Given the description of an element on the screen output the (x, y) to click on. 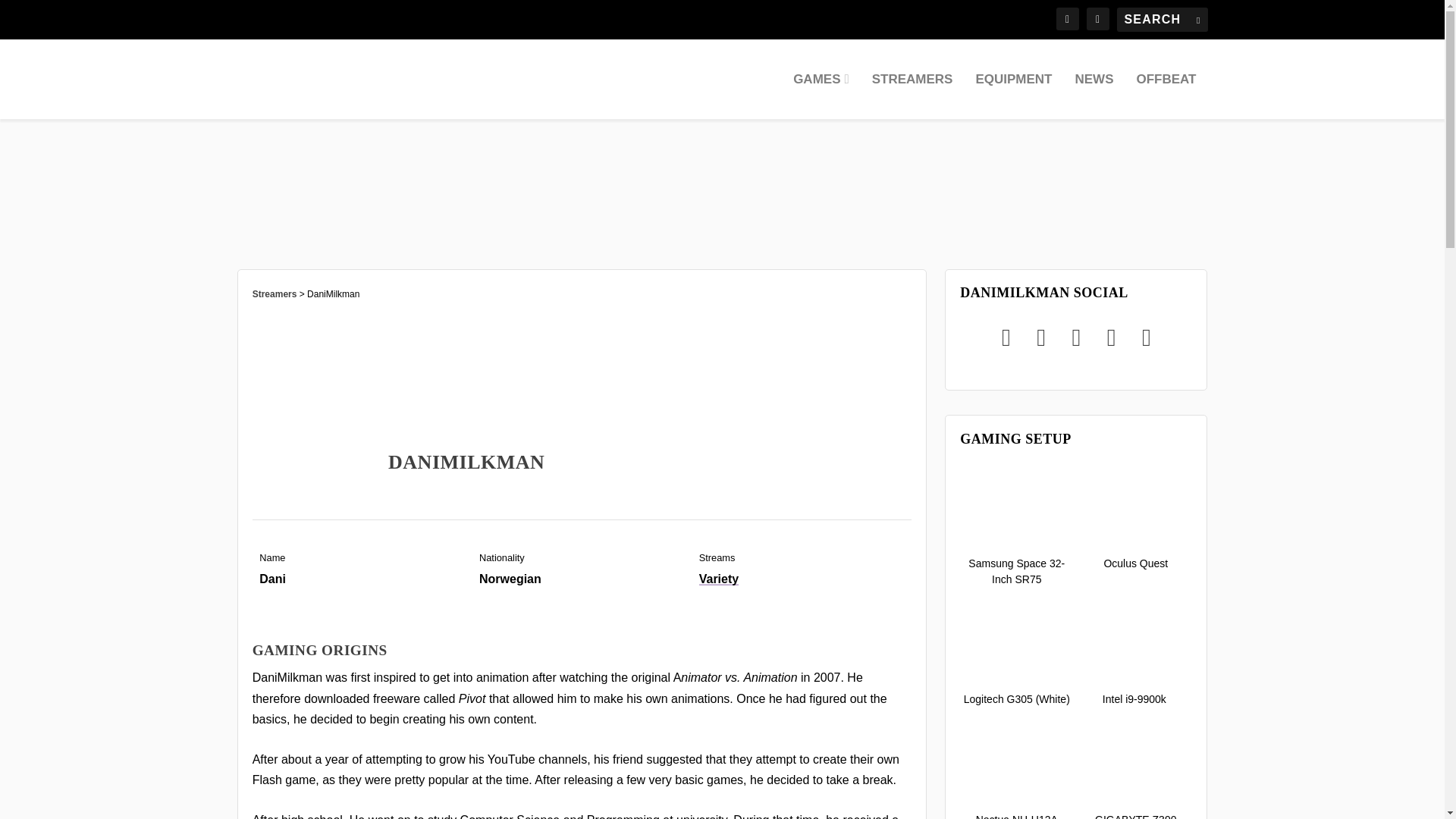
Streamers (274, 294)
GAMES (820, 95)
Variety (718, 578)
OFFBEAT (1165, 95)
Search for: (1161, 19)
EQUIPMENT (1013, 95)
NEWS (1093, 95)
STREAMERS (912, 95)
